Given the description of an element on the screen output the (x, y) to click on. 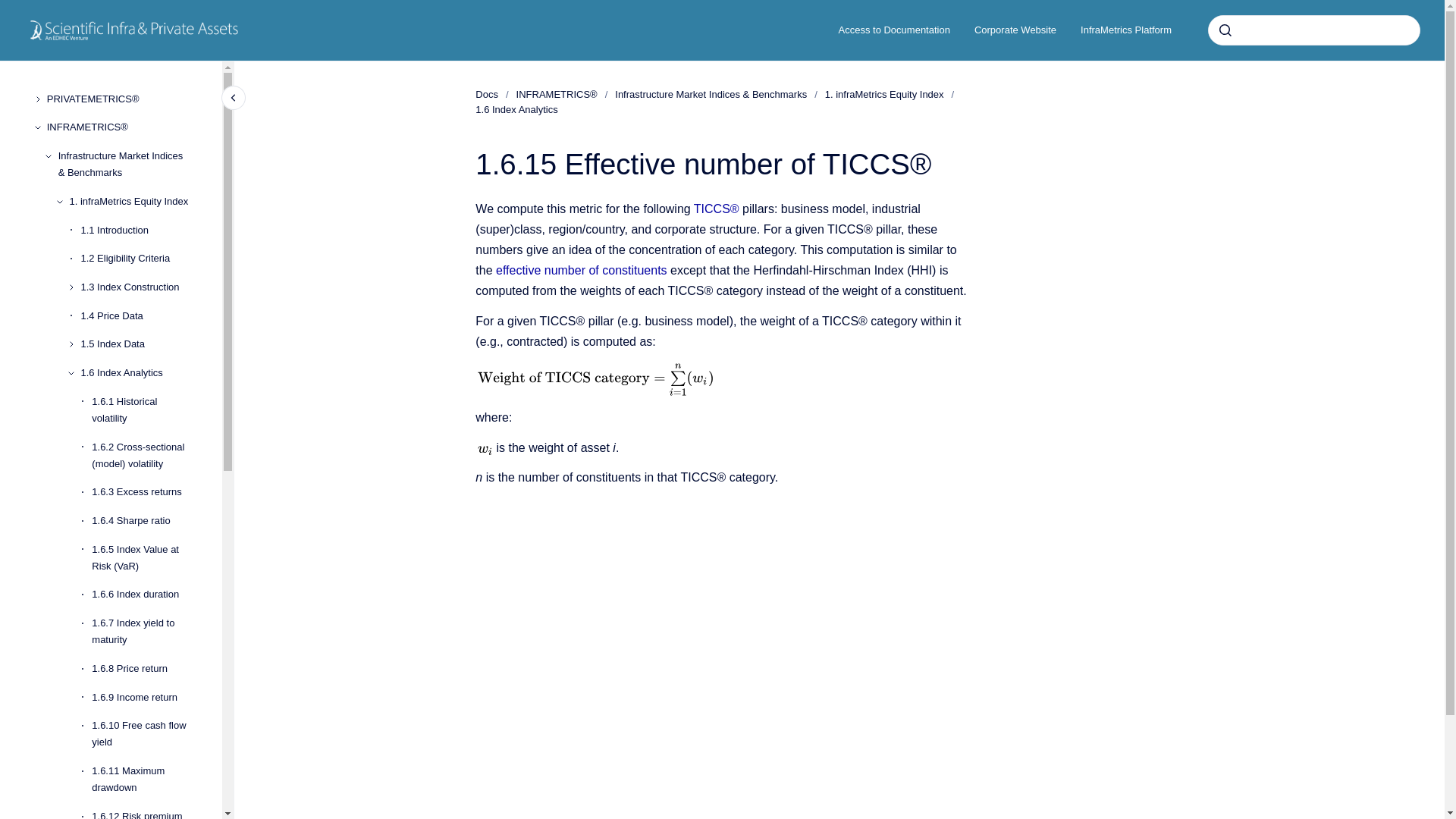
1.6.8 Price return (144, 668)
1.2 Eligibility Criteria (139, 258)
1.5 Index Data (139, 344)
Go to homepage (134, 30)
1.3 Index Construction (139, 287)
1.6.10 Free cash flow yield (144, 734)
1.6.4 Sharpe ratio (144, 520)
1.4 Price Data (139, 316)
1.6.7 Index yield to maturity (144, 631)
1.6.6 Index duration (144, 595)
